Given the description of an element on the screen output the (x, y) to click on. 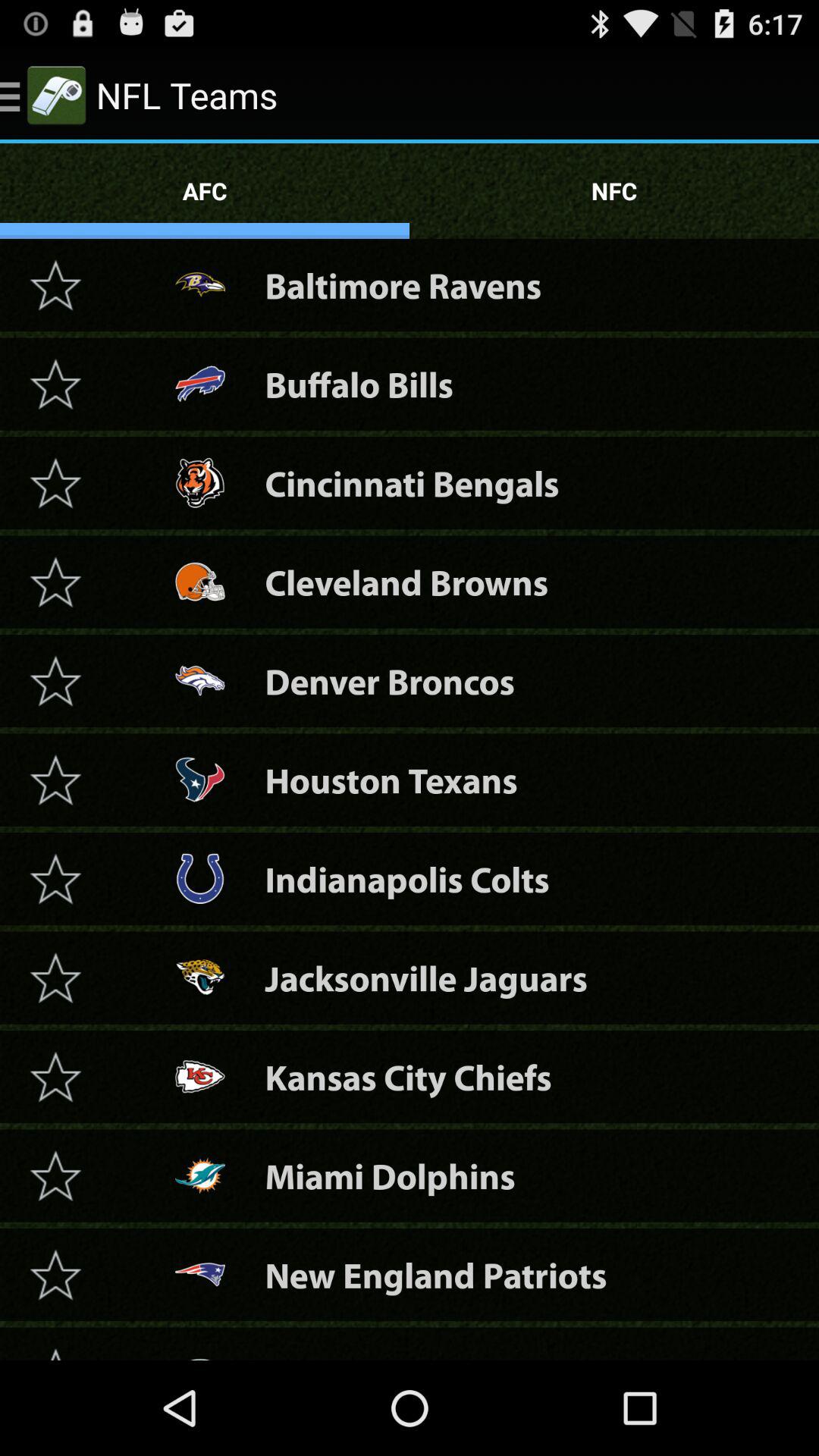
select favorite (55, 284)
